Given the description of an element on the screen output the (x, y) to click on. 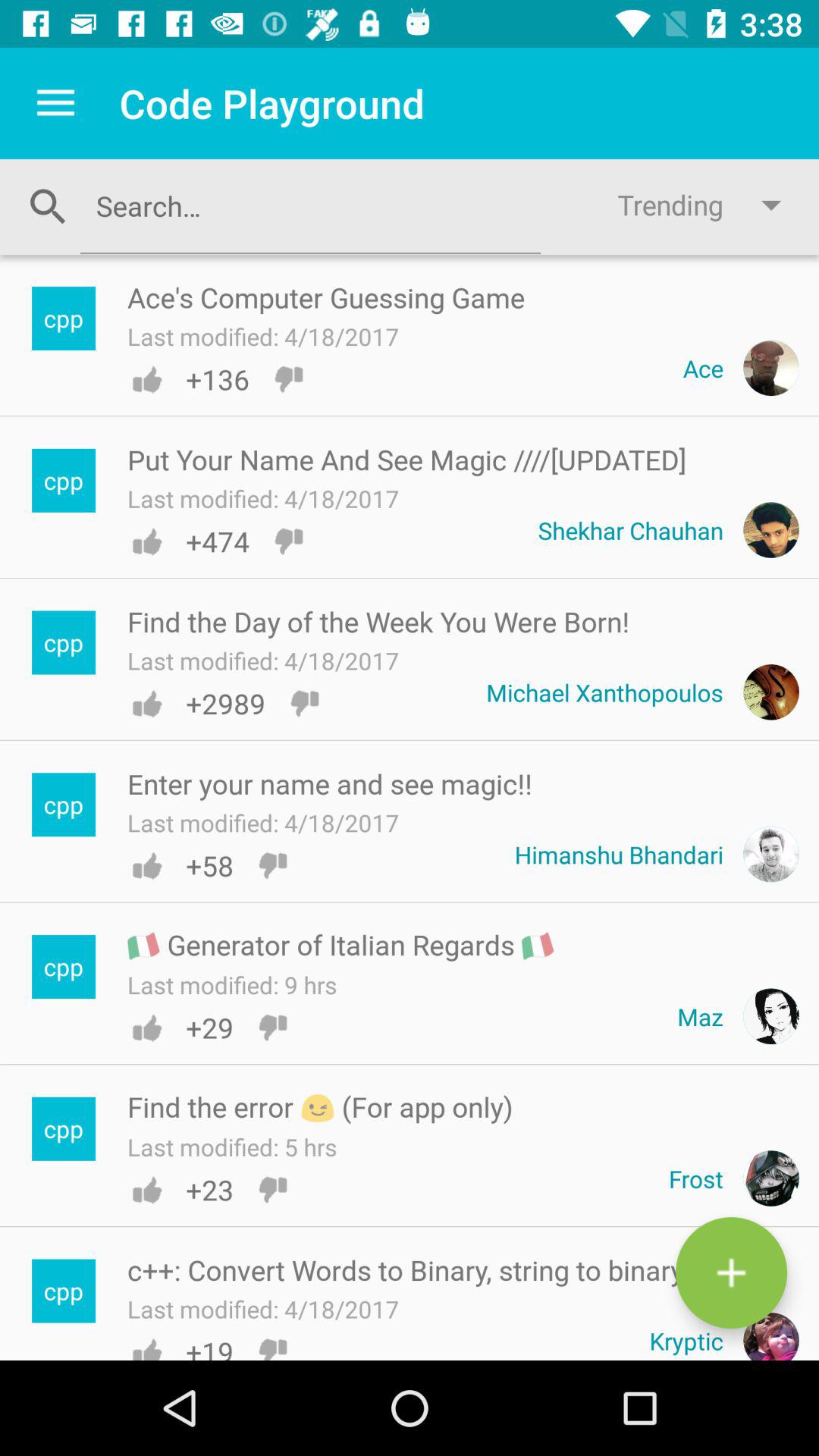
add status (731, 1272)
